Given the description of an element on the screen output the (x, y) to click on. 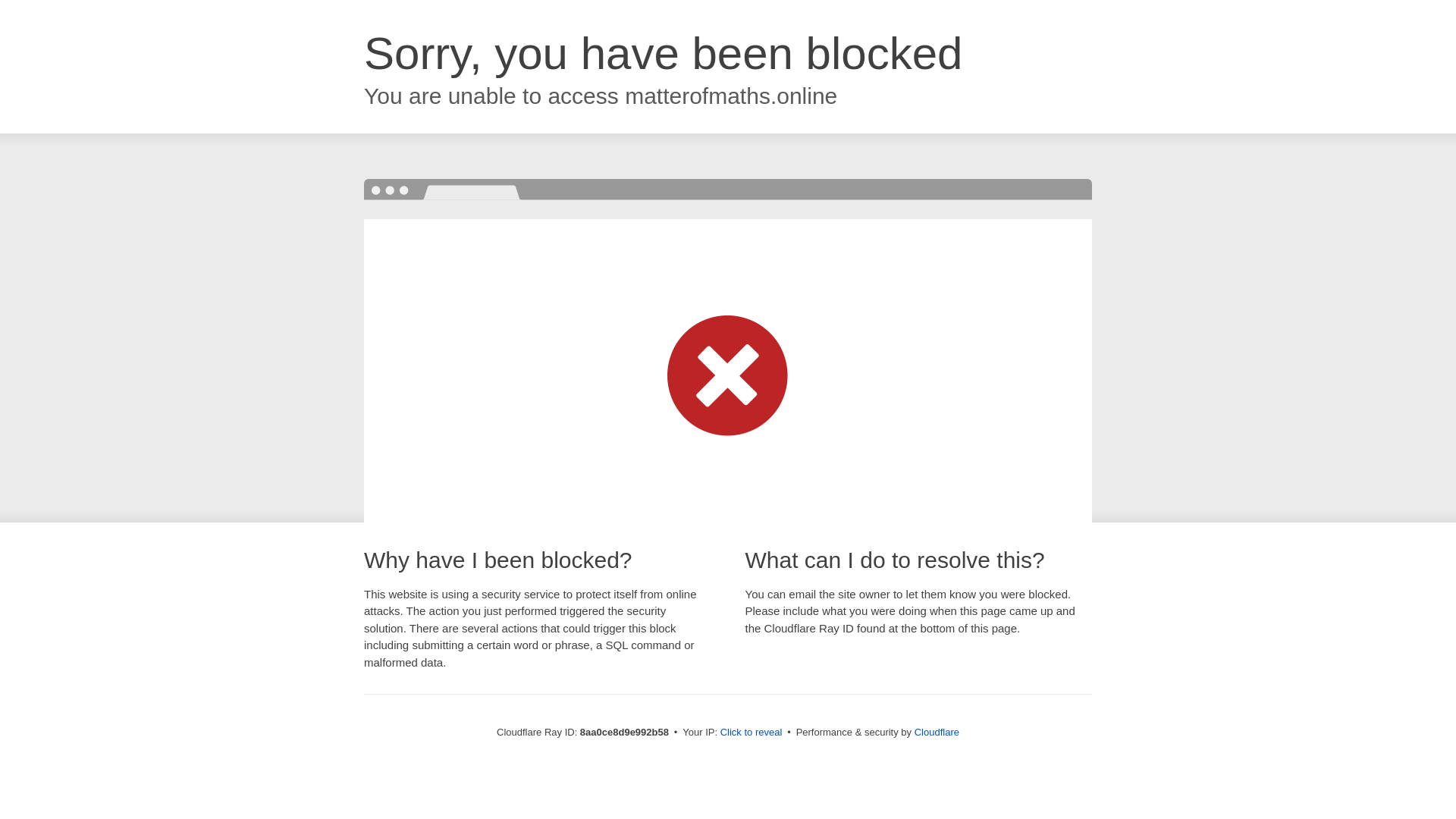
Click to reveal (751, 732)
Cloudflare (936, 731)
